Given the description of an element on the screen output the (x, y) to click on. 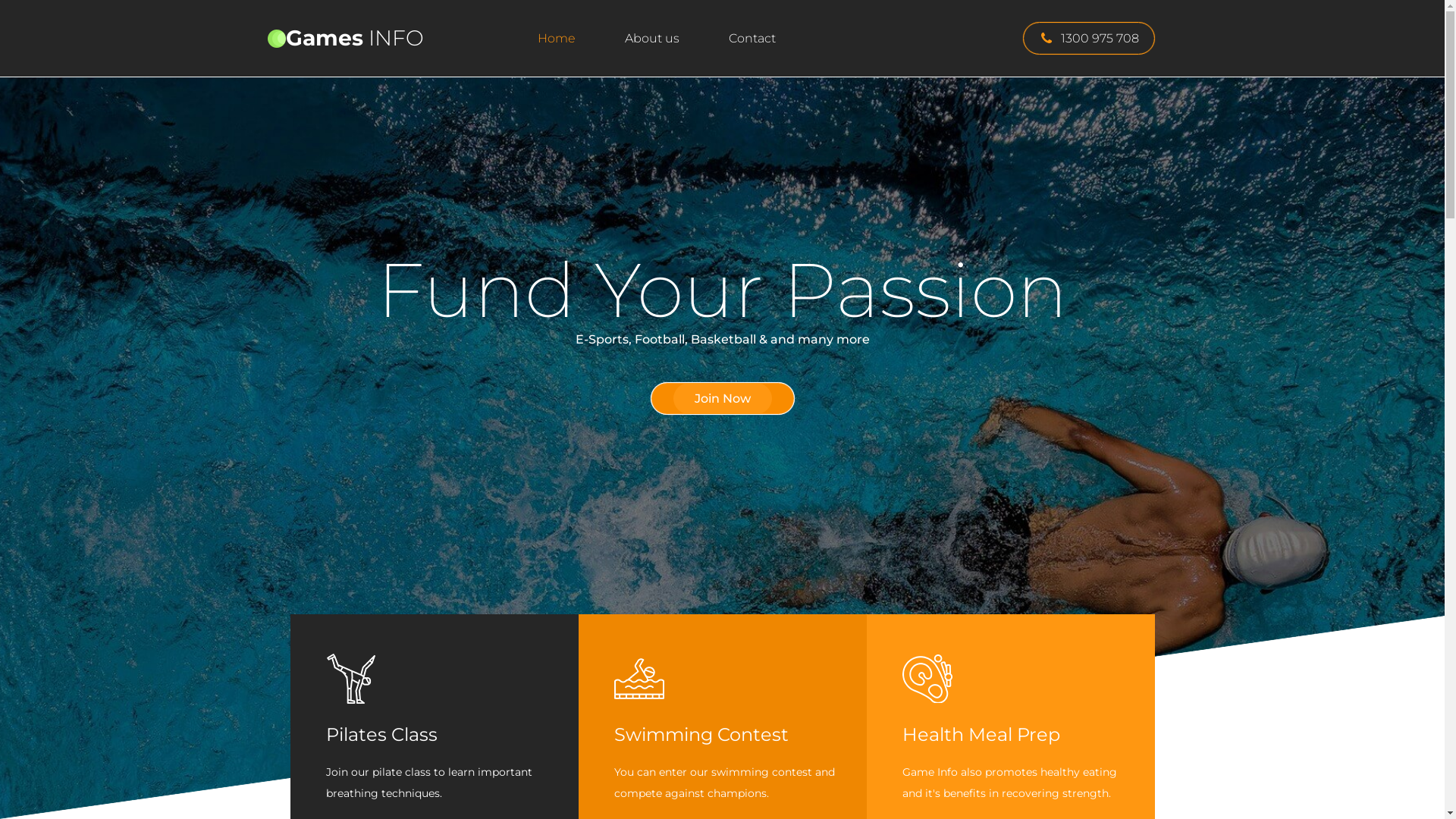
Join Now Element type: text (721, 398)
Home Element type: text (555, 37)
About us Element type: text (651, 37)
Games INFO Element type: text (367, 37)
Contact Element type: text (751, 37)
